Given the description of an element on the screen output the (x, y) to click on. 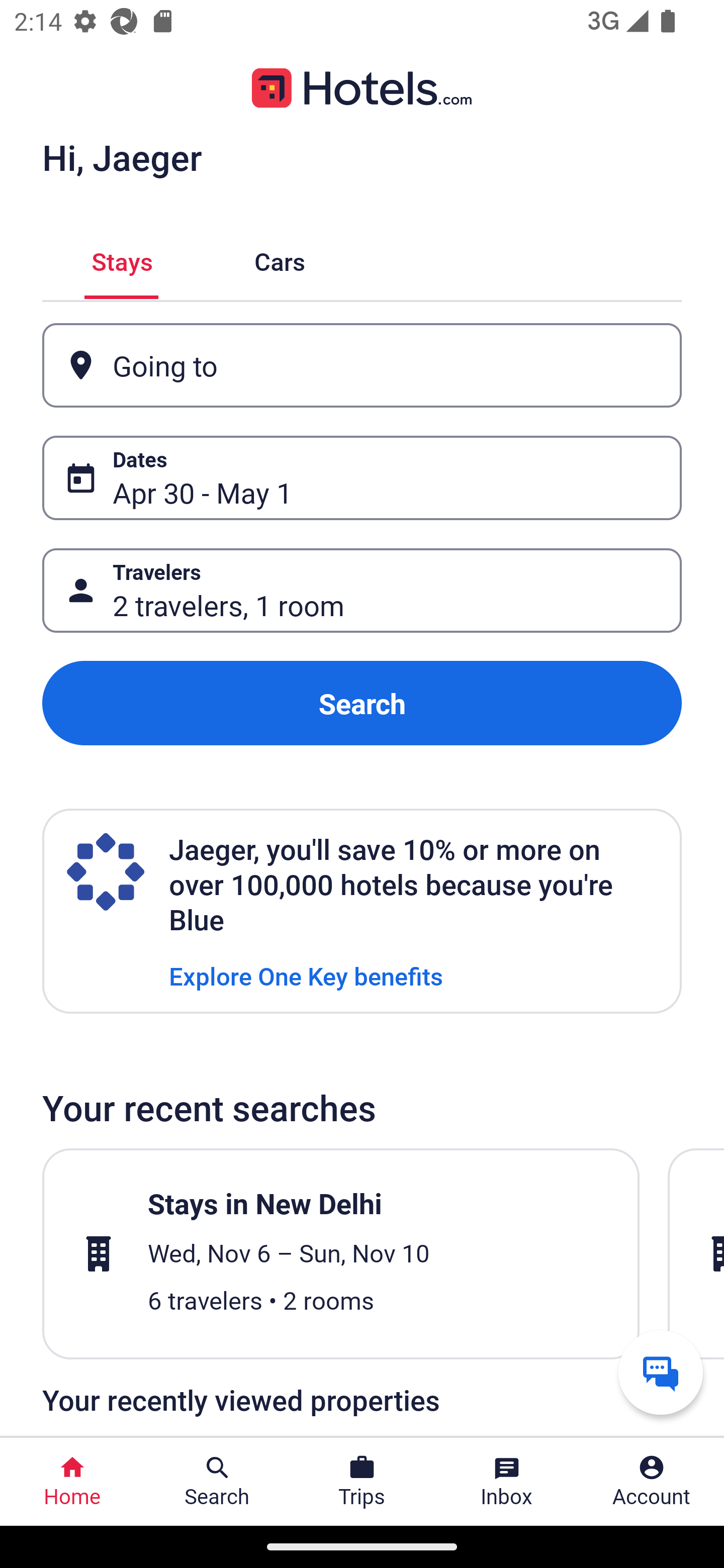
Hi, Jaeger (121, 156)
Cars (279, 259)
Going to Button (361, 365)
Dates Button Apr 30 - May 1 (361, 477)
Travelers Button 2 travelers, 1 room (361, 590)
Search (361, 702)
Get help from a virtual agent (660, 1371)
Search Search Button (216, 1481)
Trips Trips Button (361, 1481)
Inbox Inbox Button (506, 1481)
Account Profile. Button (651, 1481)
